Given the description of an element on the screen output the (x, y) to click on. 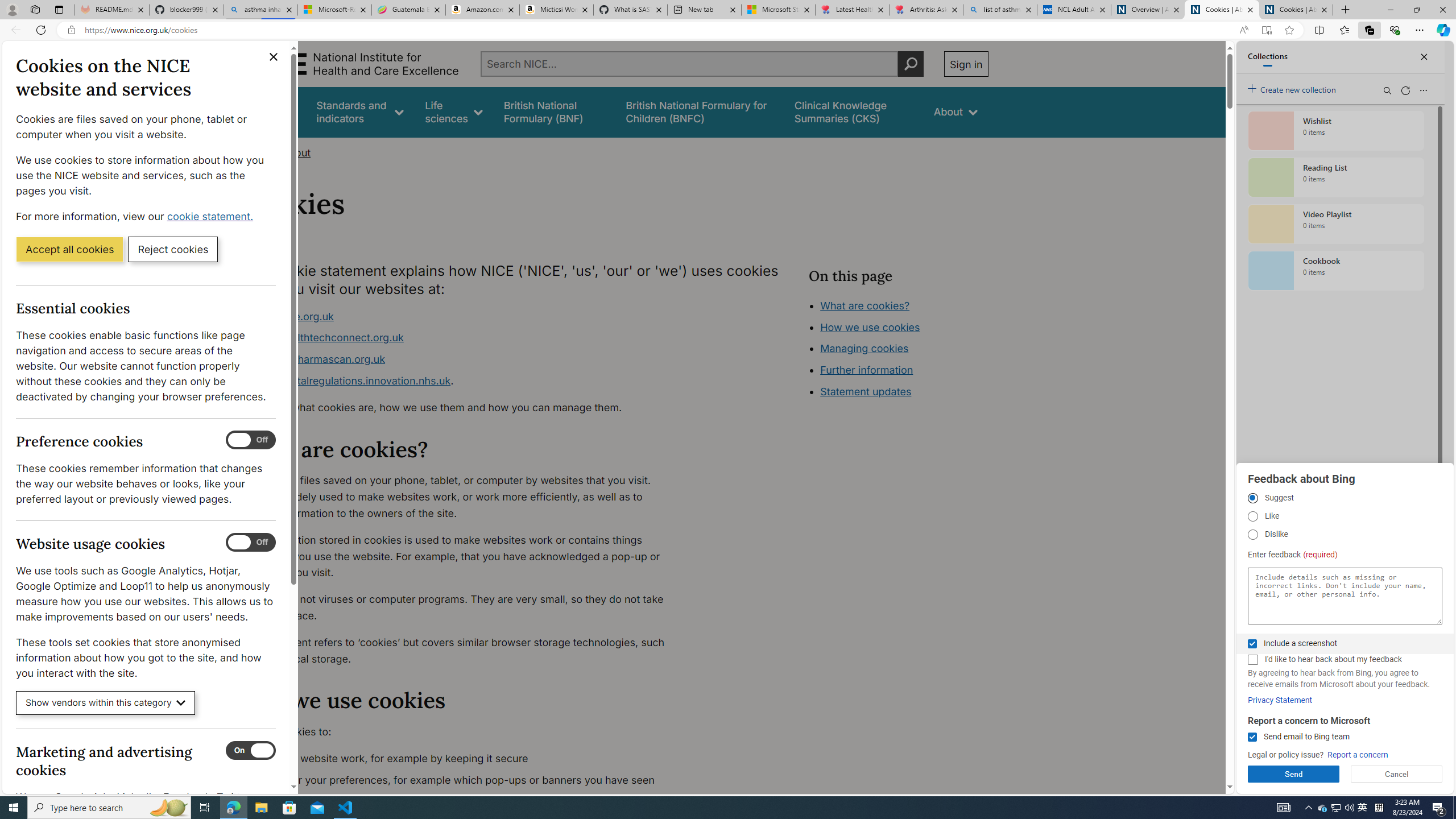
Accept all cookies (69, 248)
www.digitalregulations.innovation.nhs.uk. (464, 380)
Home> (258, 152)
Send email to Bing team (1251, 737)
Suggest (1252, 498)
Website usage cookies (250, 542)
What are cookies? (864, 305)
